Given the description of an element on the screen output the (x, y) to click on. 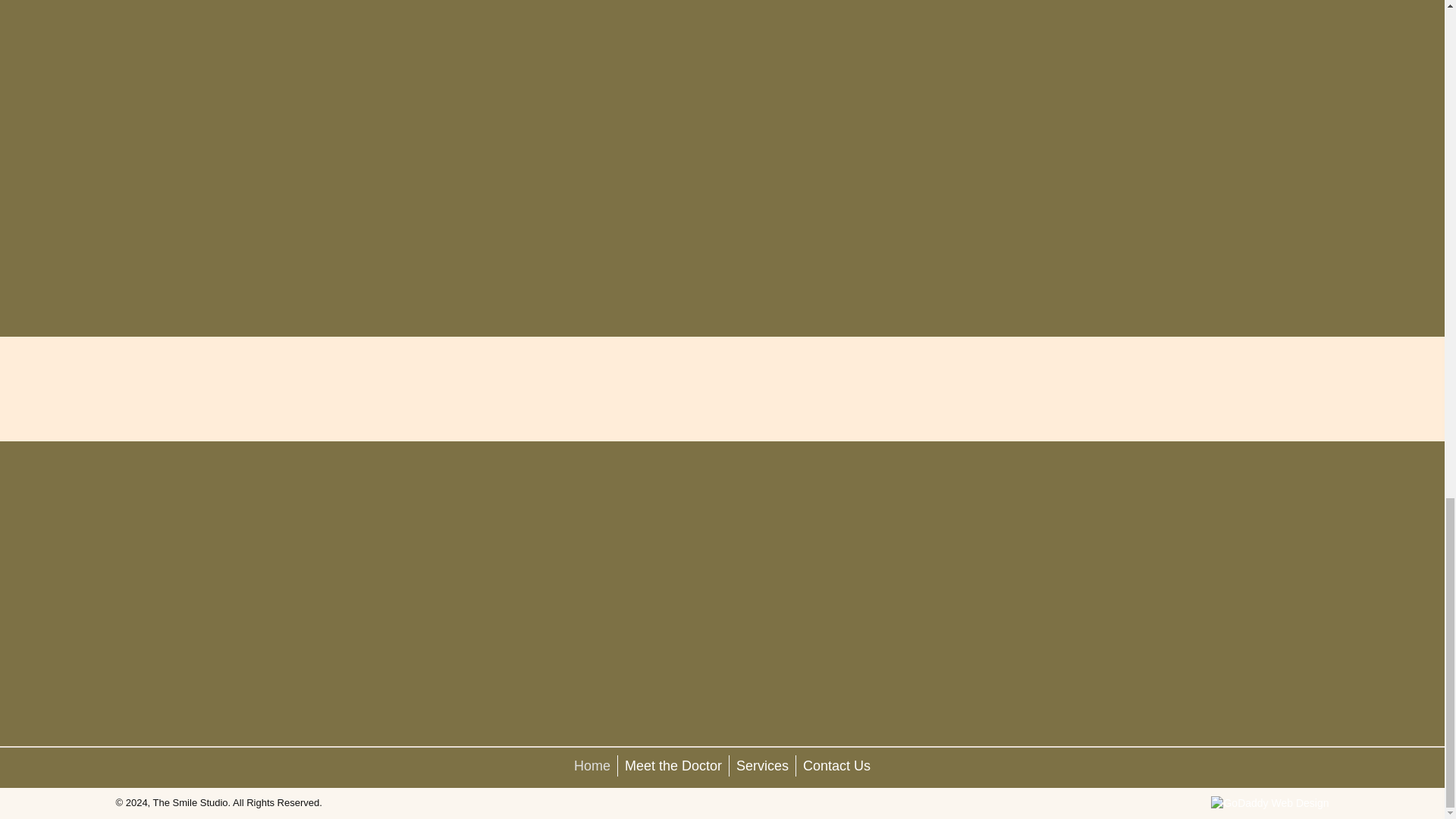
Home (592, 765)
Meet the Doctor (673, 765)
Services (761, 765)
Contact Us (836, 765)
